Given the description of an element on the screen output the (x, y) to click on. 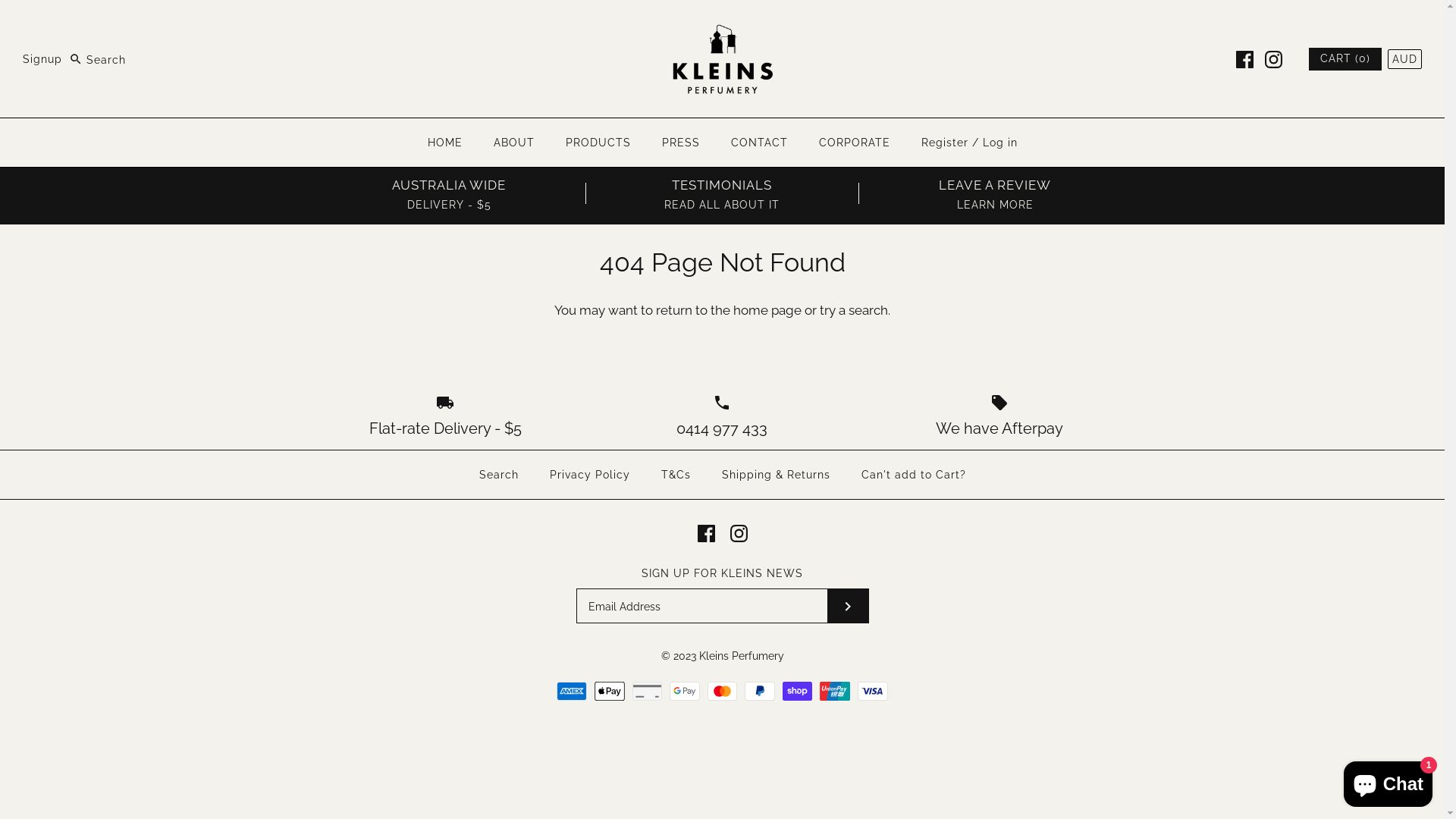
home page Element type: text (767, 309)
Facebook Element type: text (1244, 59)
Shipping & Returns Element type: text (776, 474)
PRODUCTS Element type: text (598, 142)
try a search Element type: text (853, 309)
Search Element type: text (498, 474)
AUSTRALIA WIDE
DELIVERY - $5 Element type: text (448, 193)
Facebook Element type: text (706, 533)
Can't add to Cart? Element type: text (913, 474)
Shopify online store chat Element type: hover (1388, 780)
CART (0) Element type: text (1344, 58)
Instagram Element type: text (737, 533)
Signup Element type: text (42, 59)
RIGHT Element type: text (846, 605)
ABOUT Element type: text (513, 142)
Log in Element type: text (999, 142)
T&Cs Element type: text (675, 474)
Privacy Policy Element type: text (589, 474)
PRESS Element type: text (679, 142)
HOME Element type: text (445, 142)
LEAVE A REVIEW
LEARN MORE Element type: text (994, 193)
CORPORATE Element type: text (854, 142)
Kleins Perfumery Element type: hover (721, 24)
TESTIMONIALS
READ ALL ABOUT IT Element type: text (721, 193)
Kleins Perfumery Element type: text (741, 655)
Instagram Element type: text (1273, 59)
CONTACT Element type: text (759, 142)
Register Element type: text (943, 142)
